Given the description of an element on the screen output the (x, y) to click on. 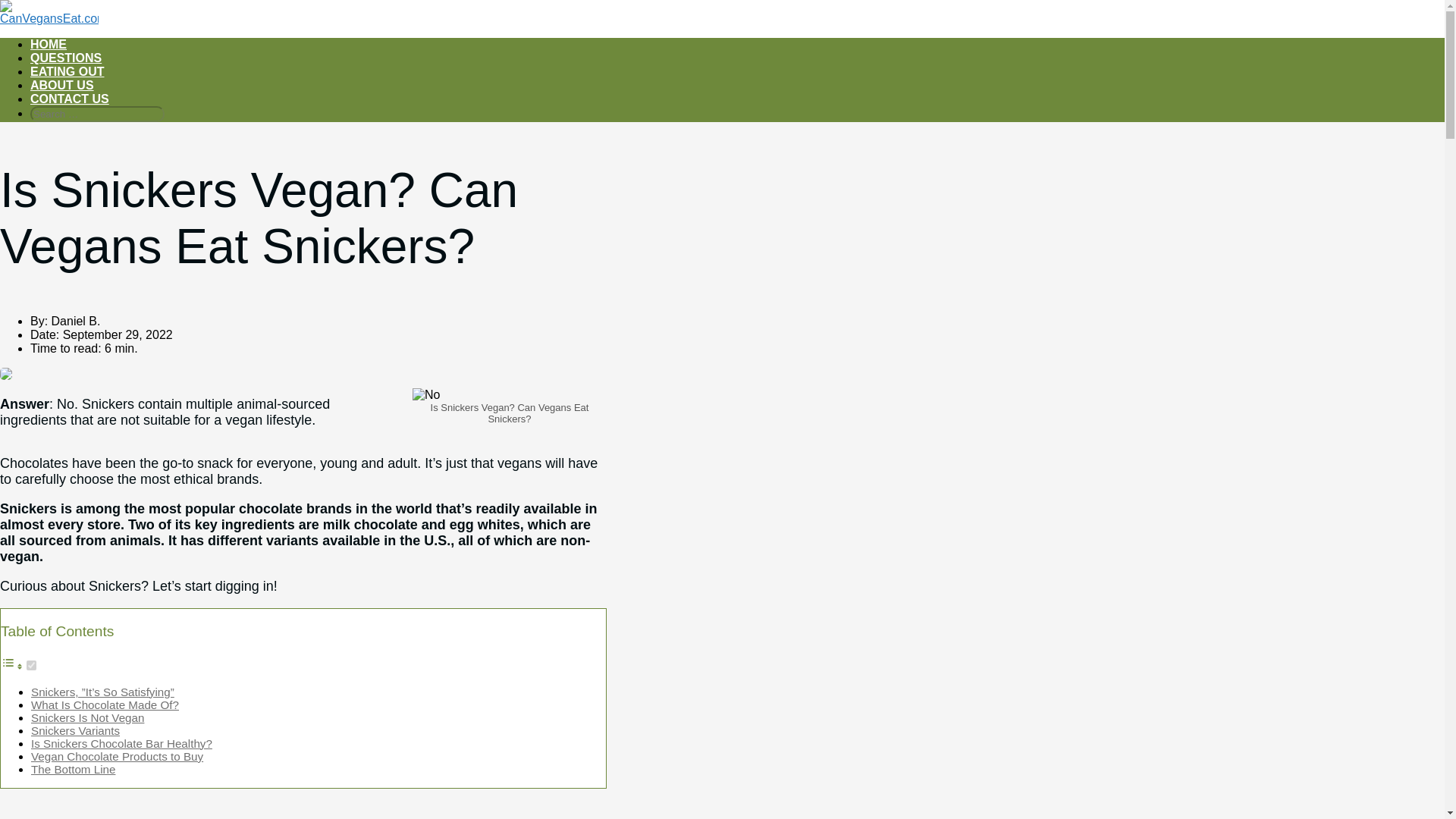
The Bottom Line (72, 768)
Snickers Variants (74, 730)
on (31, 665)
ABOUT US (62, 84)
The Bottom Line (72, 768)
What Is Chocolate Made Of? (104, 704)
Search for: (97, 114)
Snickers Variants (74, 730)
Is Snickers Vegan? Can Vegans Eat Snickers? (425, 395)
Vegan Chocolate Products to Buy (116, 756)
